Given the description of an element on the screen output the (x, y) to click on. 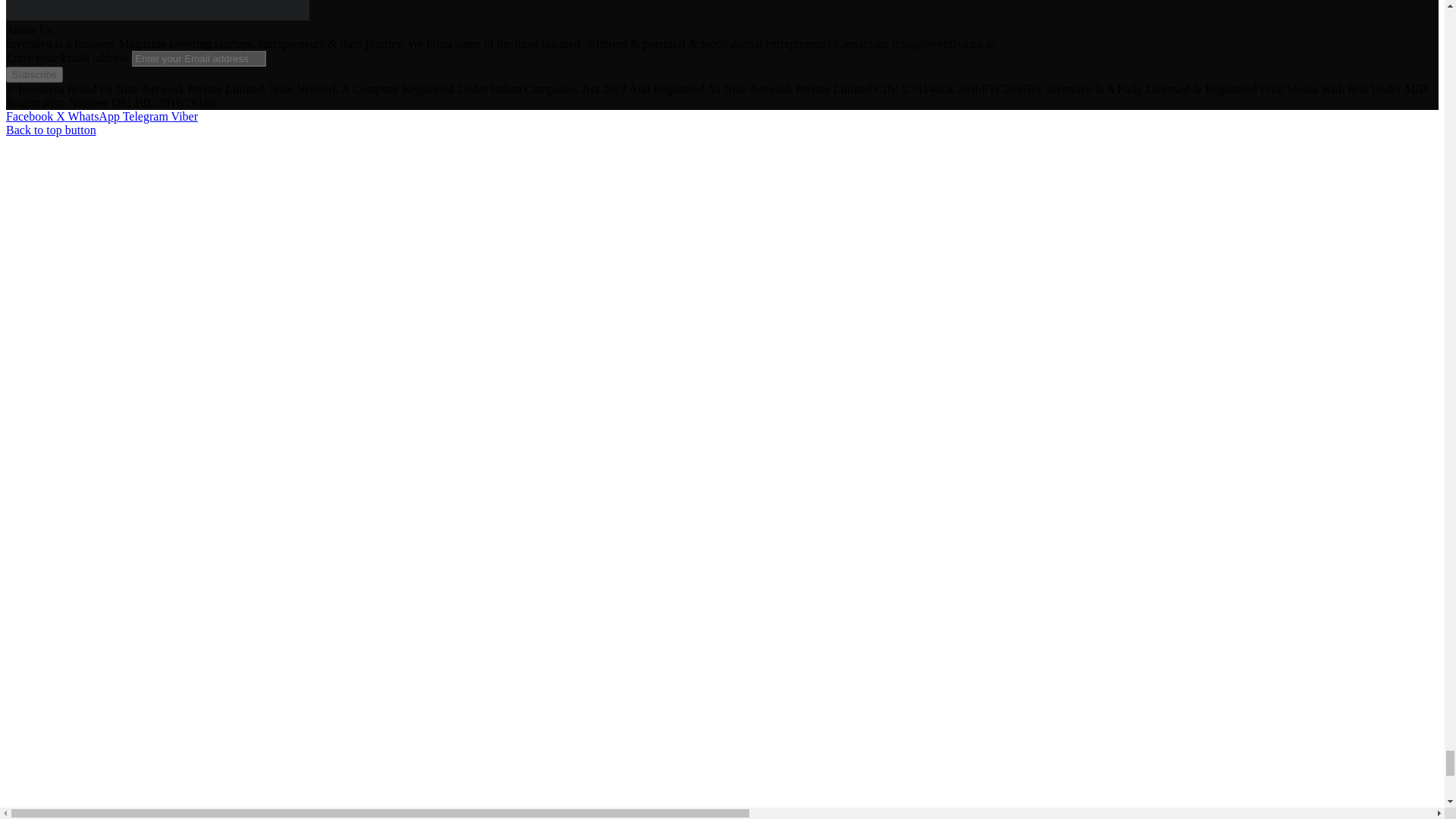
Subscribe (33, 74)
